Given the description of an element on the screen output the (x, y) to click on. 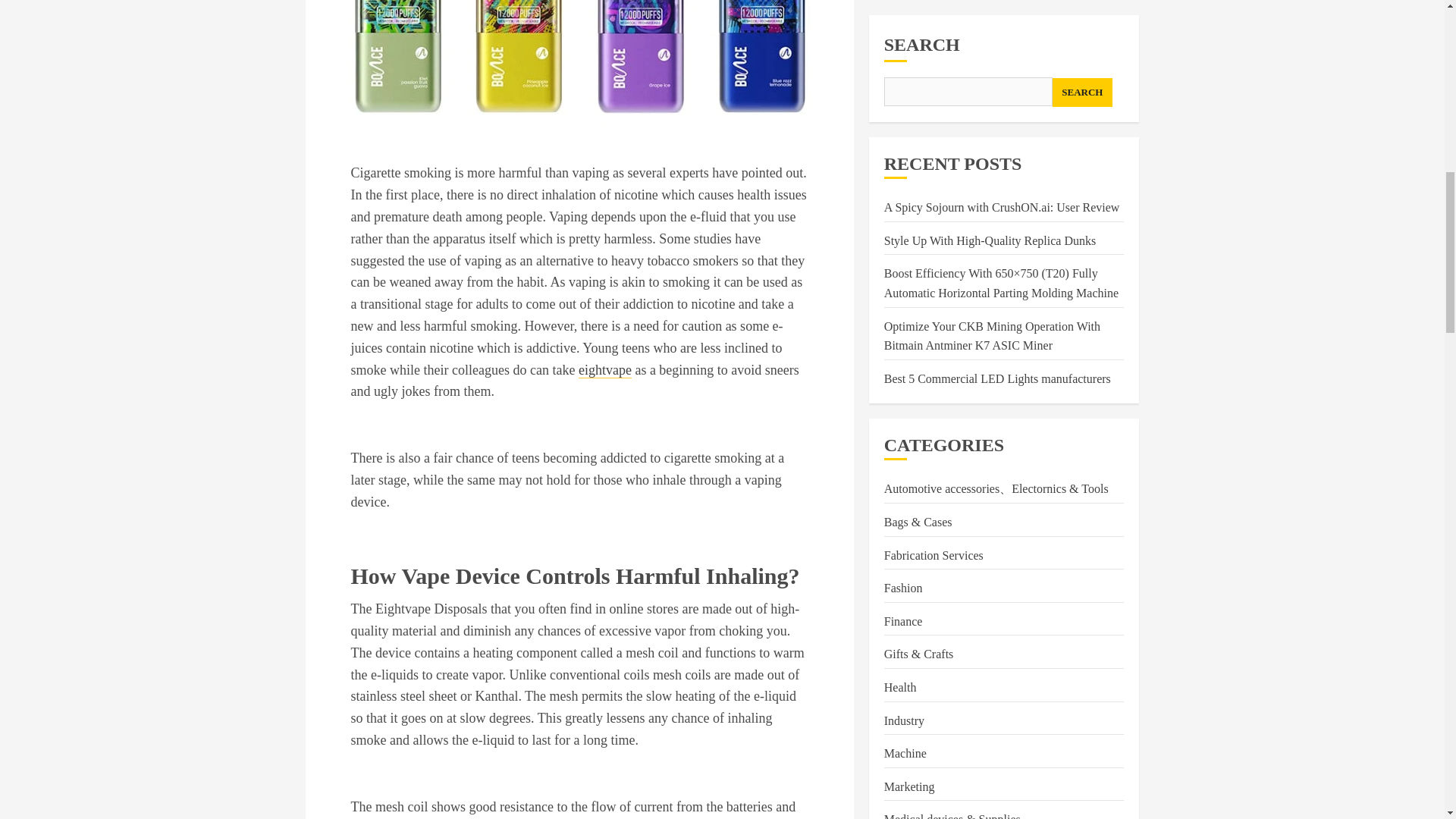
Fashion (903, 2)
eightvape (604, 370)
